Given the description of an element on the screen output the (x, y) to click on. 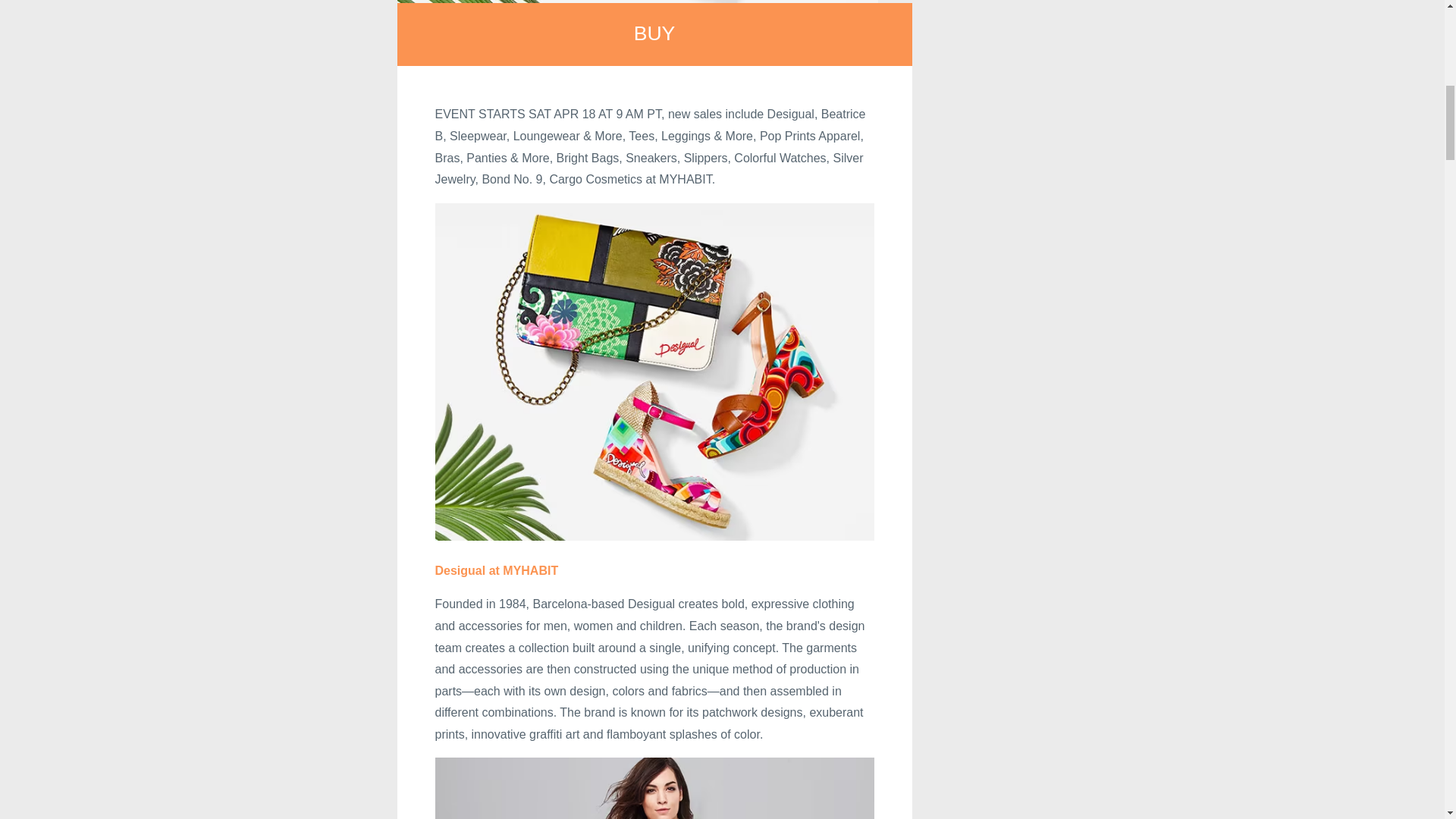
Desigual at MYHABIT (497, 570)
BUY (654, 33)
Desigual at MYHABIT (497, 570)
